Given the description of an element on the screen output the (x, y) to click on. 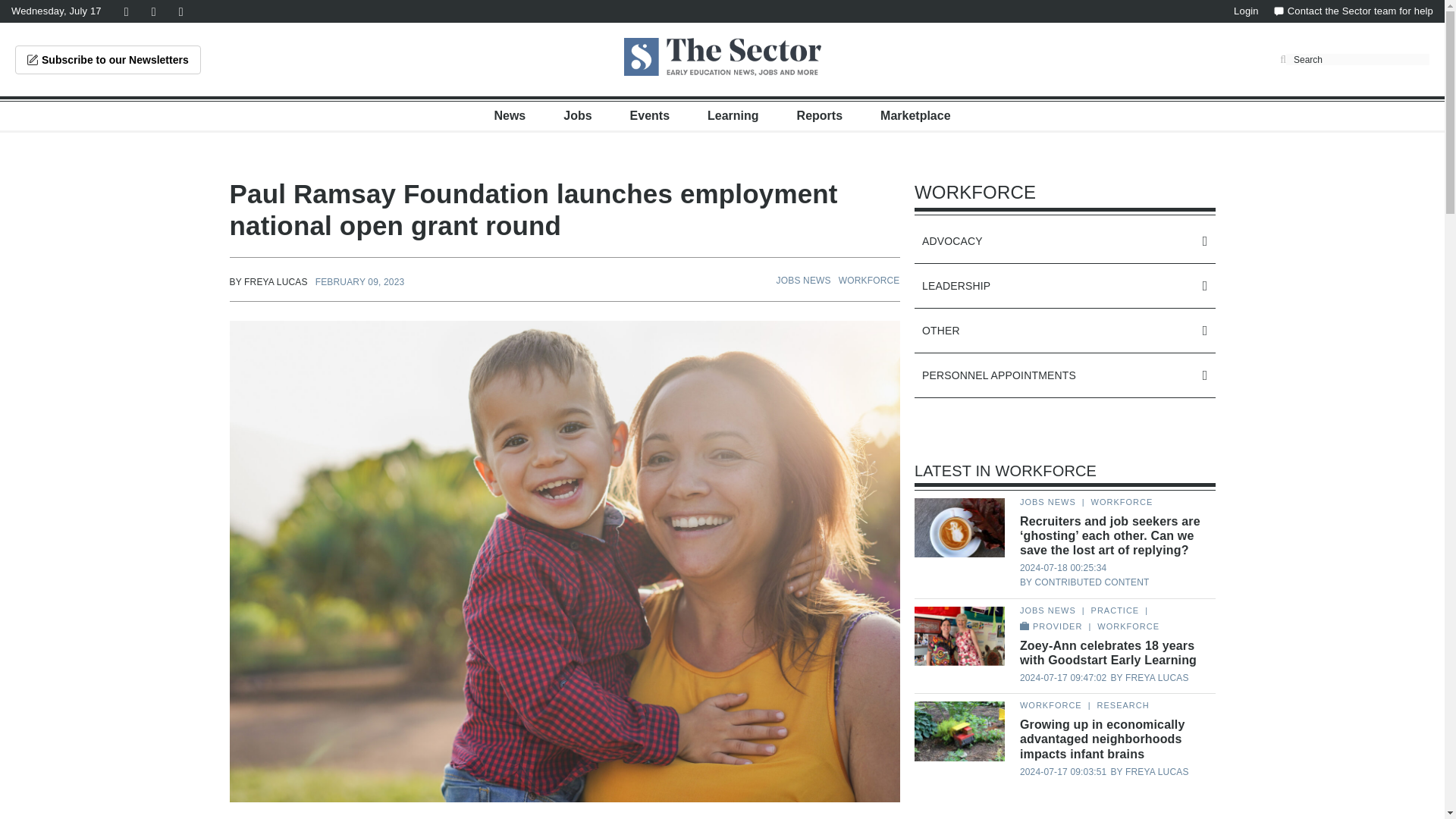
News (509, 115)
Contact the Sector team for help (1353, 11)
Reports (819, 115)
Login (1246, 11)
Learning (732, 115)
Subscribe to our Newsletters (107, 59)
JOBS NEWS (803, 280)
Events (649, 115)
Marketplace (915, 115)
WORKFORCE (868, 280)
Jobs (577, 115)
